Given the description of an element on the screen output the (x, y) to click on. 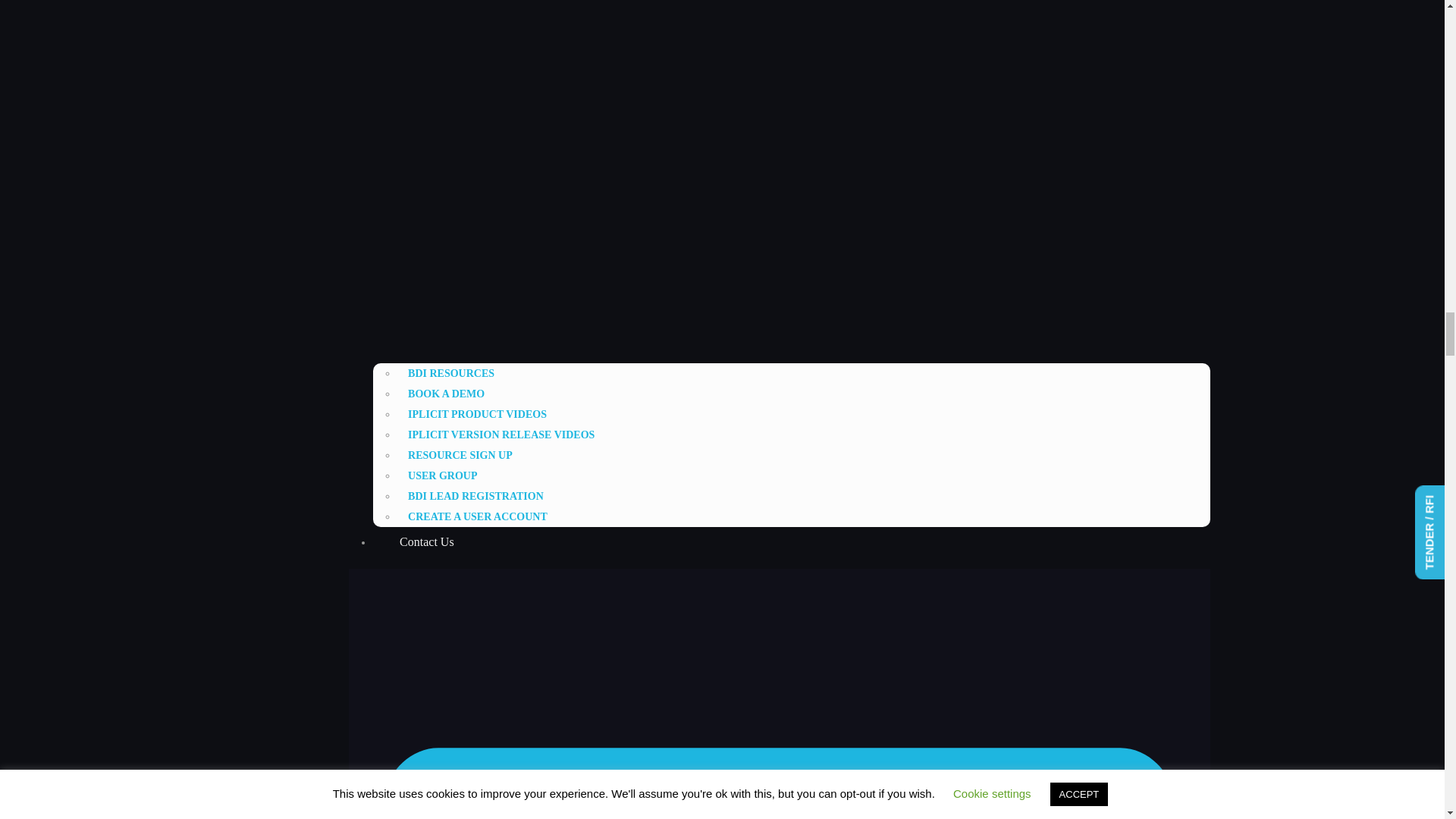
IPLICIT PRODUCT VIDEOS (477, 413)
USER GROUP (442, 475)
IPLICIT VERSION RELEASE VIDEOS (501, 434)
BDI RESOURCES (451, 372)
RESOURCE SIGN UP (459, 454)
BOOK A DEMO (446, 393)
BDI LEAD REGISTRATION (475, 495)
